Given the description of an element on the screen output the (x, y) to click on. 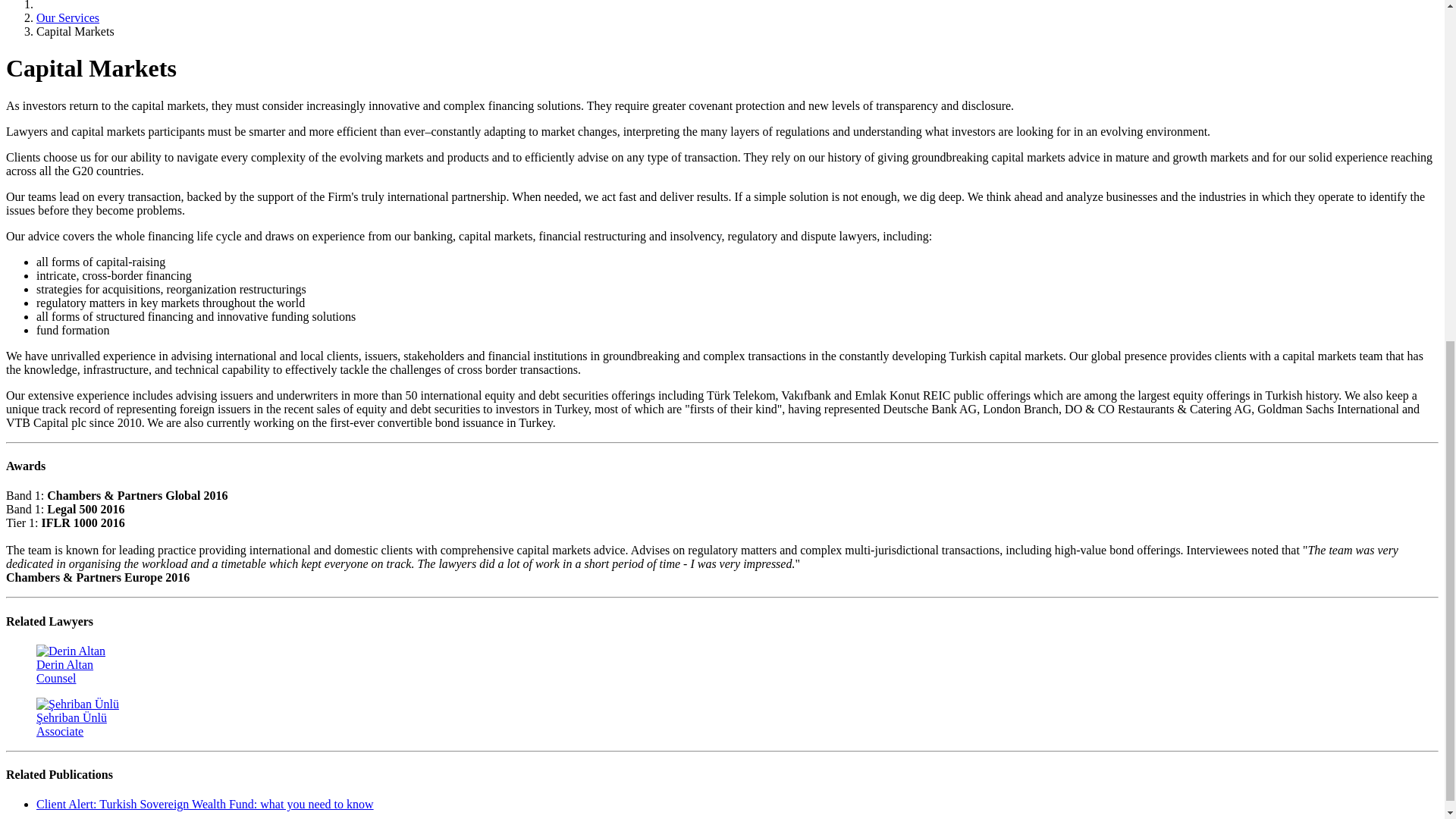
Our Services (721, 664)
